Given the description of an element on the screen output the (x, y) to click on. 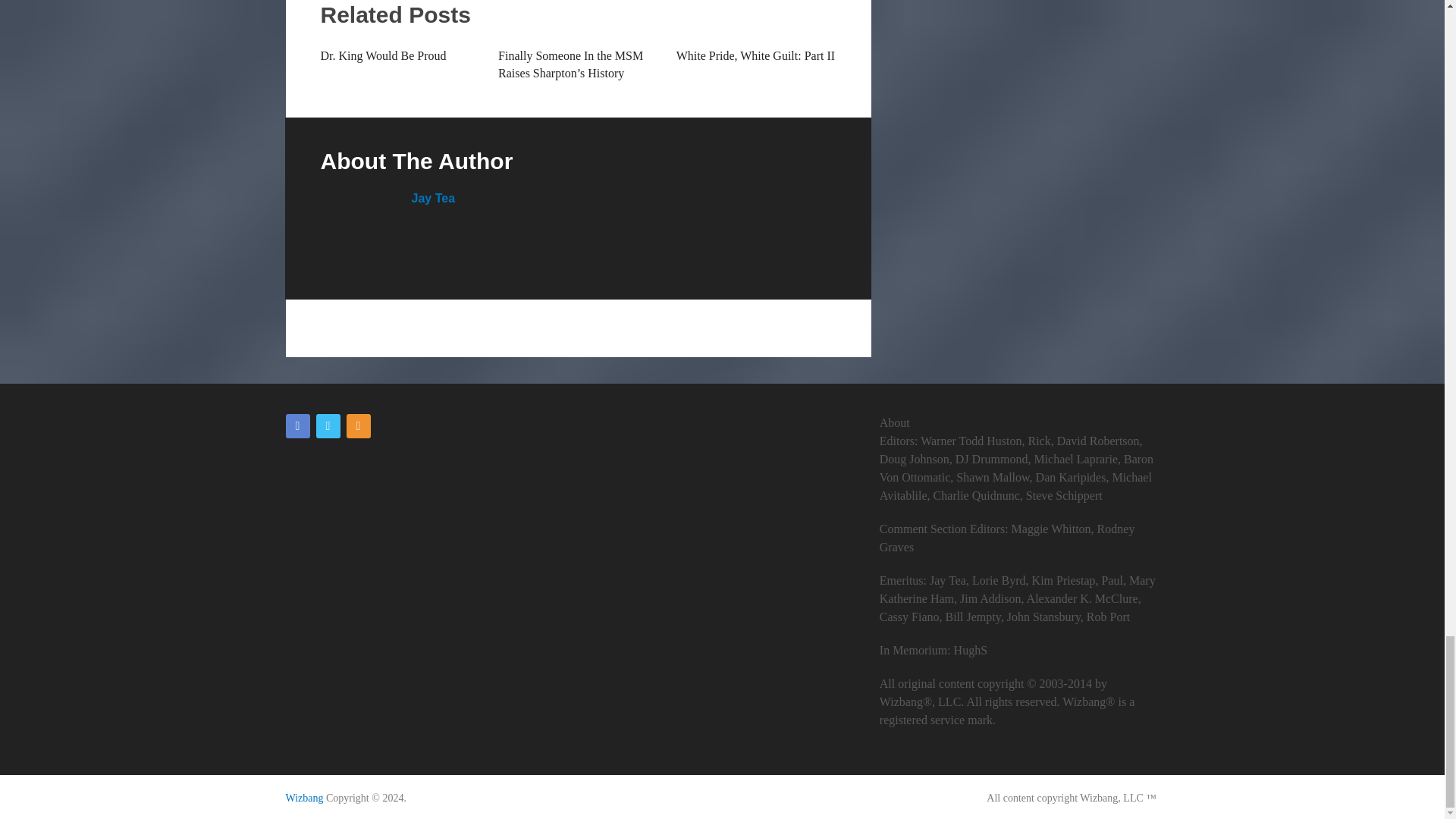
Jay Tea (432, 197)
White Pride, White Guilt: Part II (755, 55)
White Pride, White Guilt: Part II (755, 55)
Dr. King Would Be Proud (382, 55)
Dr. King Would Be Proud (382, 55)
